Given the description of an element on the screen output the (x, y) to click on. 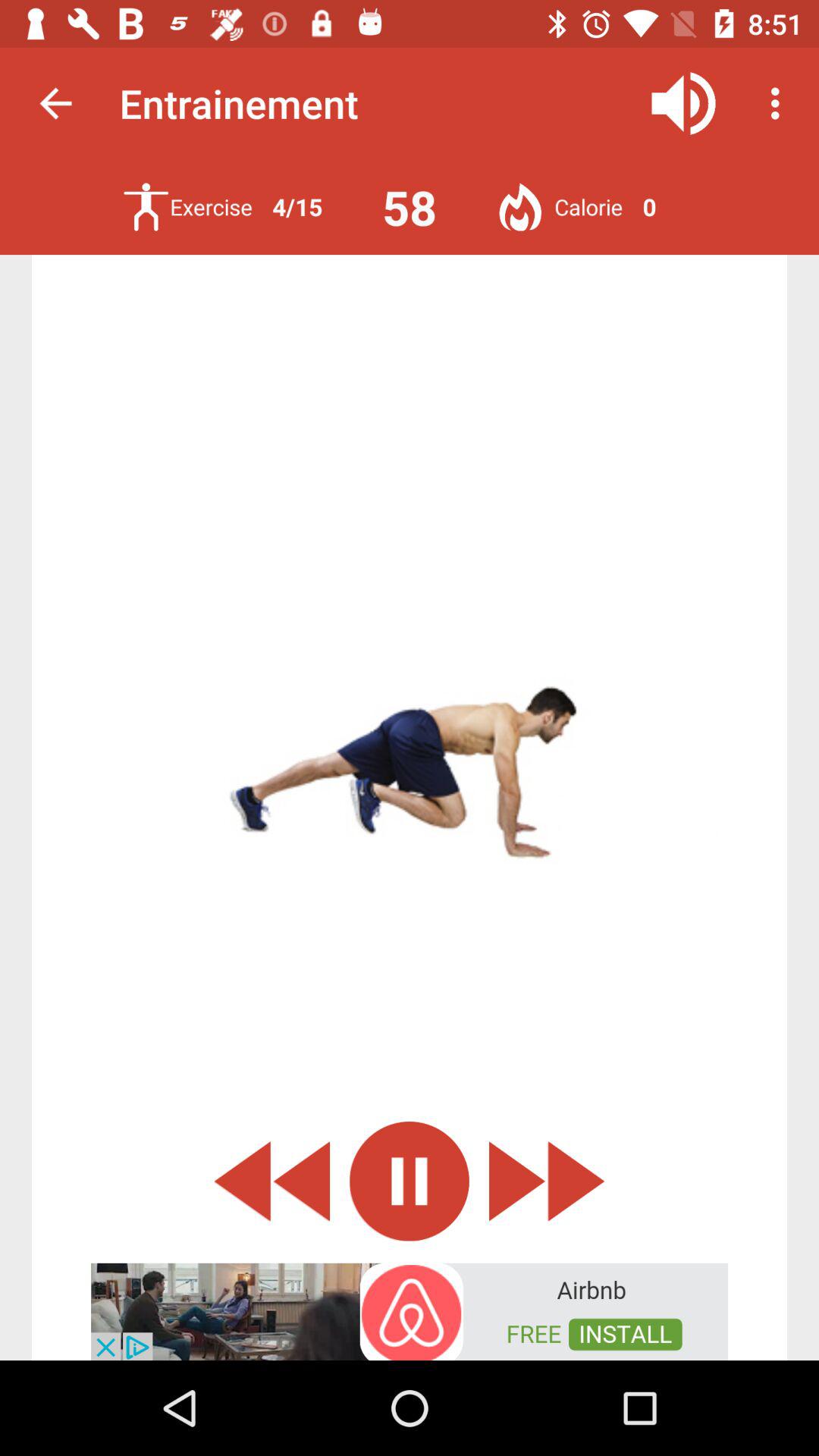
go to next (546, 1181)
